Given the description of an element on the screen output the (x, y) to click on. 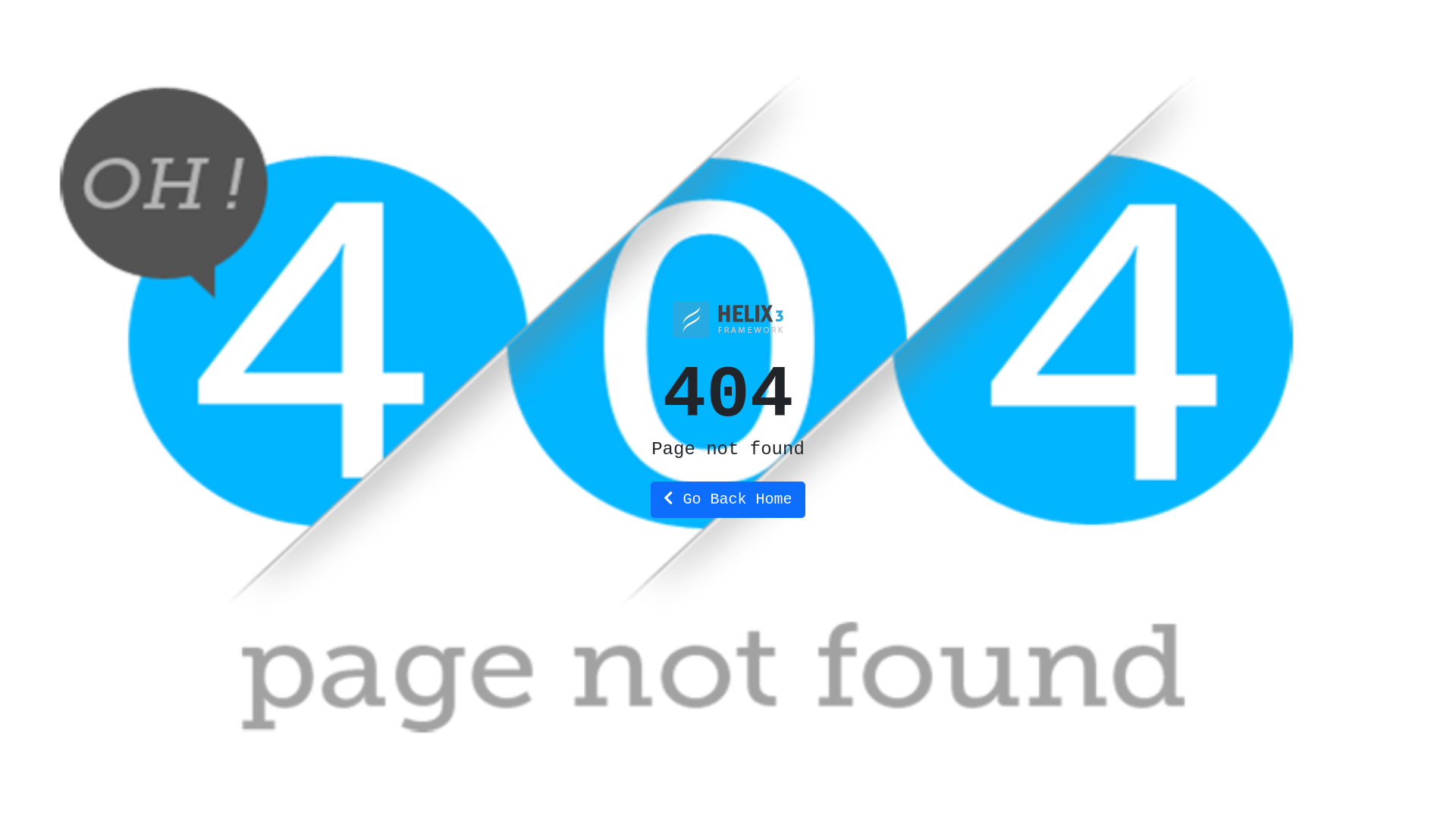
Go Back Home Element type: text (727, 499)
